Given the description of an element on the screen output the (x, y) to click on. 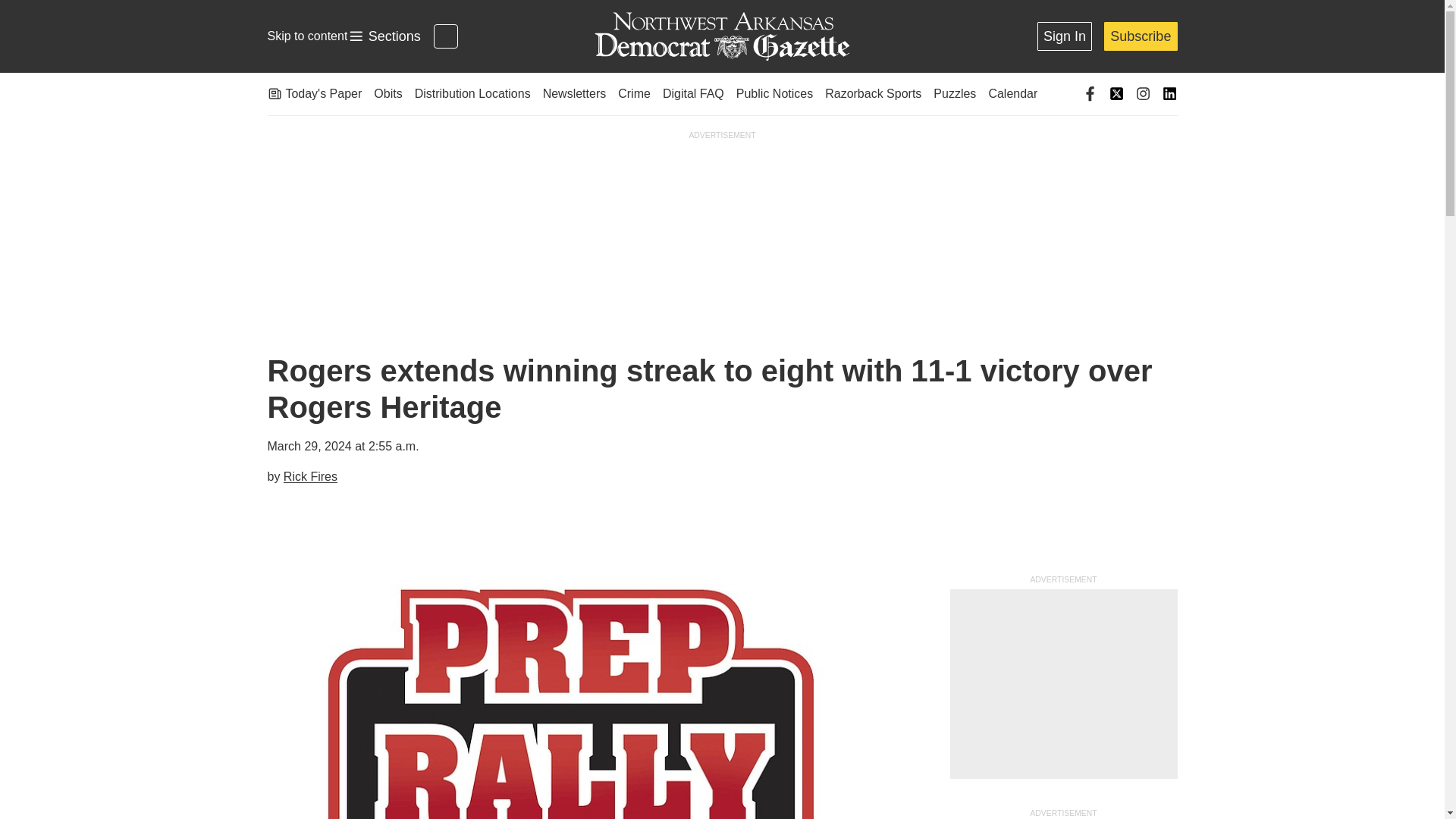
Skip to content (306, 36)
Northwest Arkansas Democrat-Gazette (383, 36)
